Given the description of an element on the screen output the (x, y) to click on. 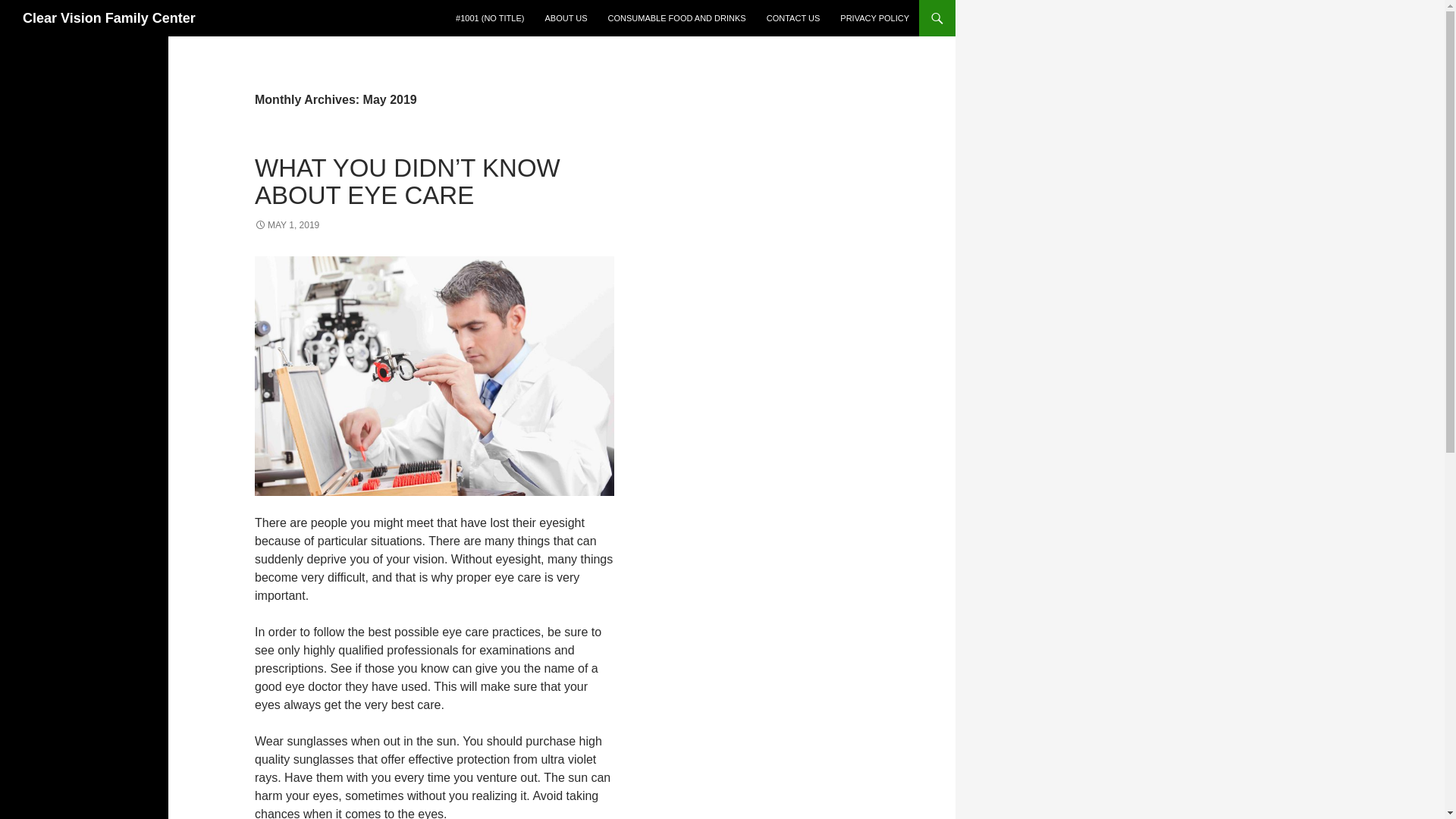
CONSUMABLE FOOD AND DRINKS (676, 18)
PRIVACY POLICY (874, 18)
Clear Vision Family Center (109, 18)
MAY 1, 2019 (286, 225)
CONTACT US (793, 18)
ABOUT US (565, 18)
